Given the description of an element on the screen output the (x, y) to click on. 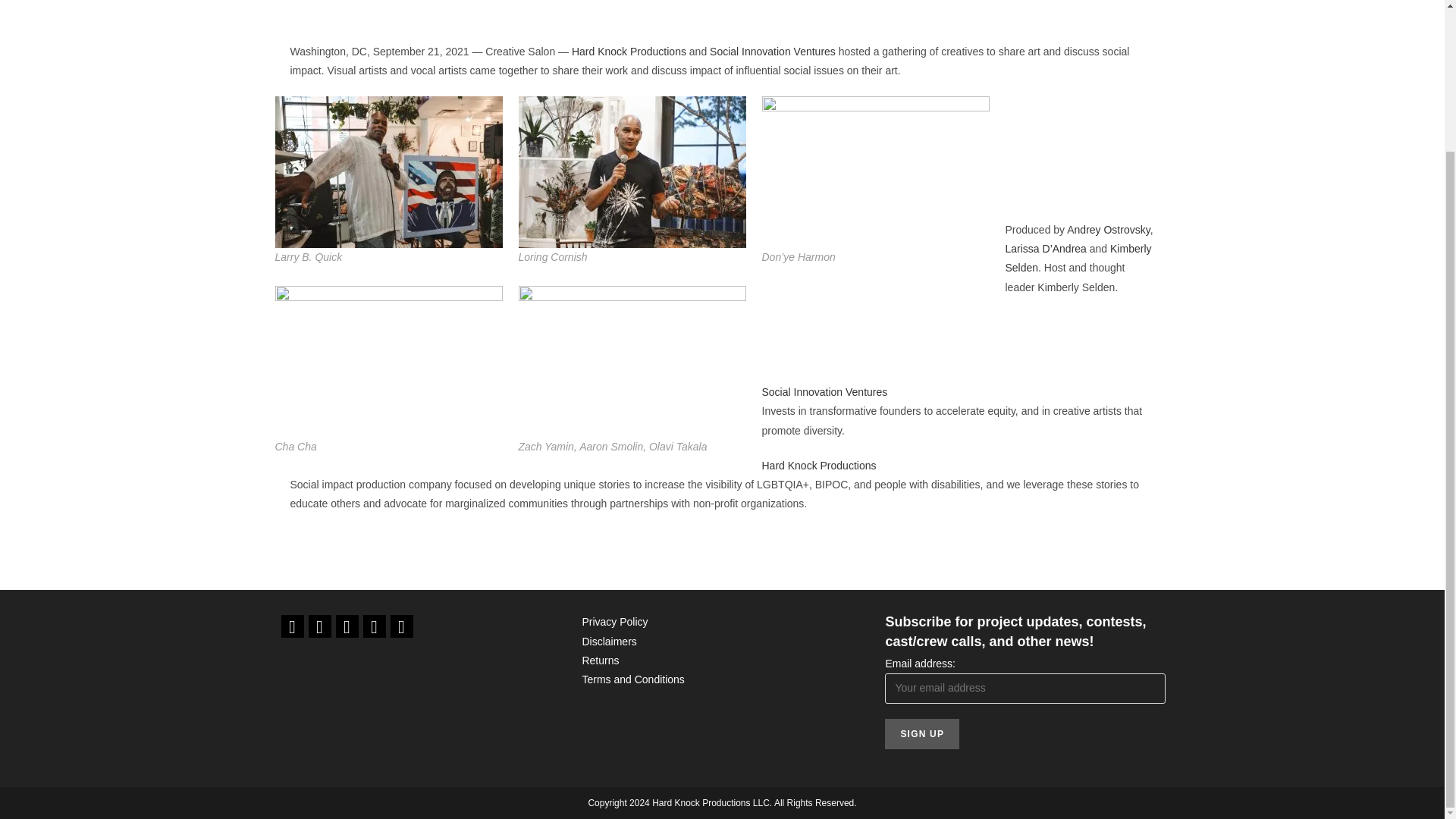
Hard Knock Productions (628, 51)
Social Innovation Ventures (772, 51)
ndrey Ostrovsky (1112, 229)
Sign up (922, 734)
